Given the description of an element on the screen output the (x, y) to click on. 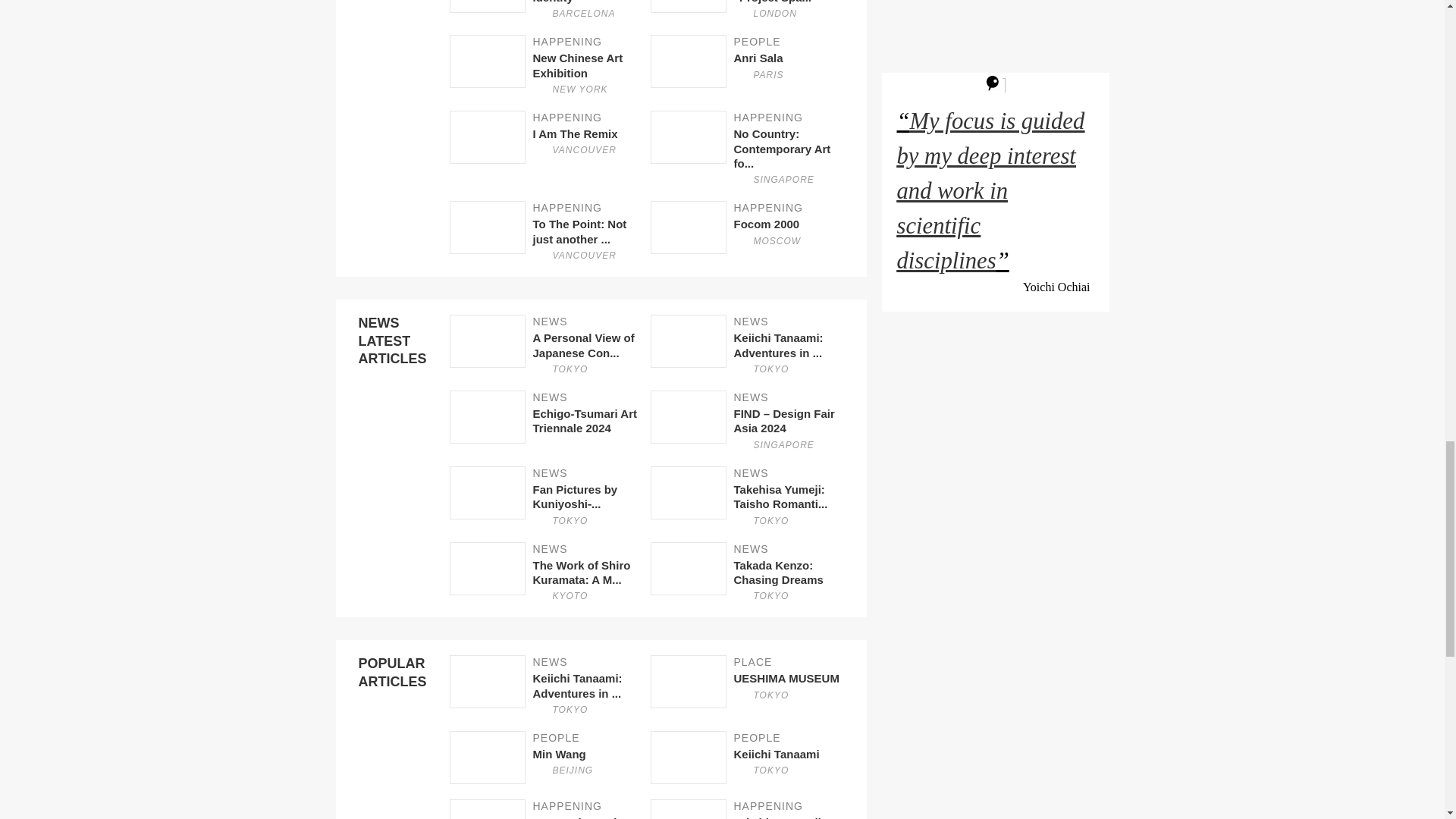
See Article of Yoichi Ochiai (548, 230)
